Given the description of an element on the screen output the (x, y) to click on. 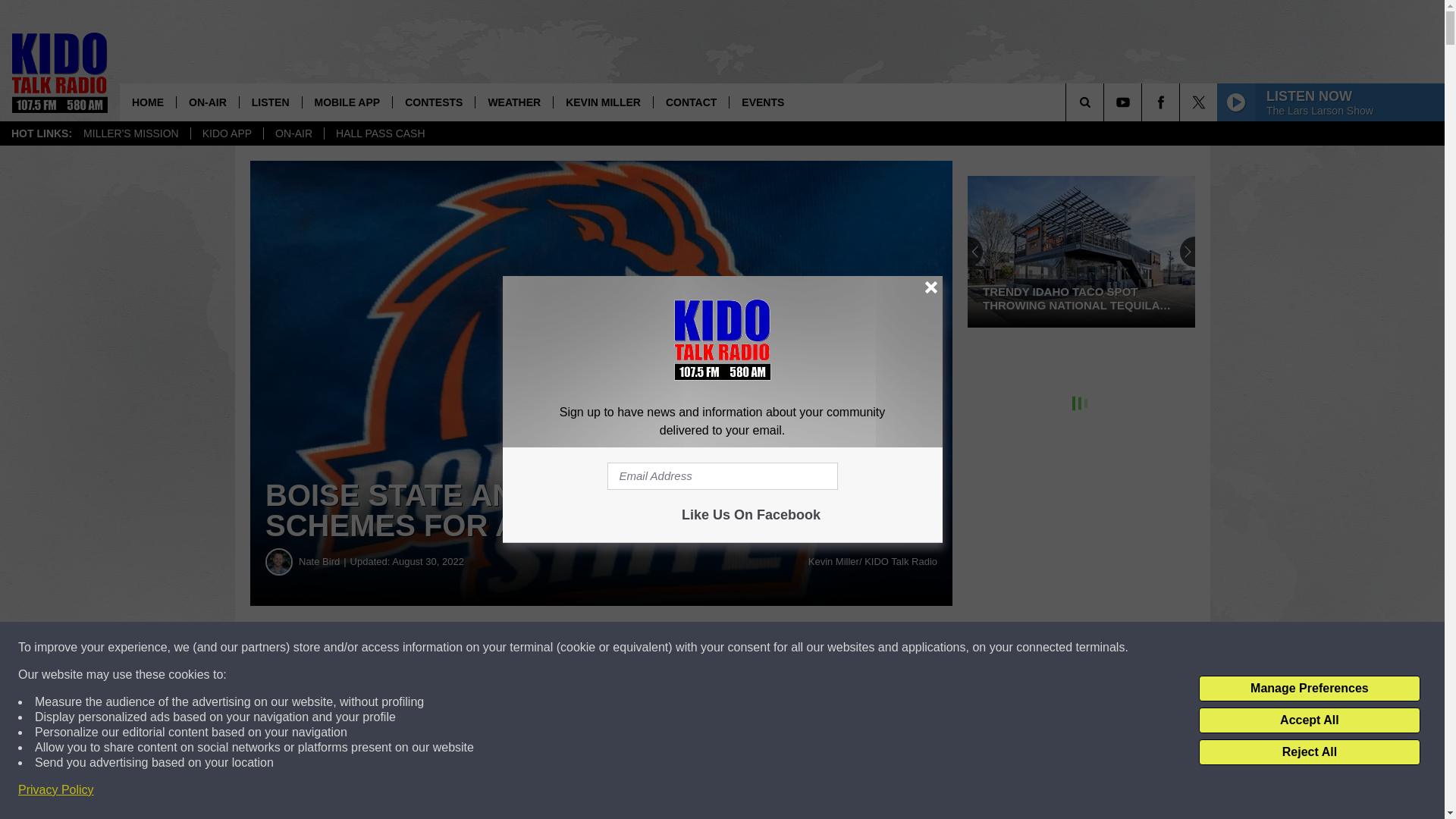
SEARCH (1106, 102)
KIDO APP (226, 133)
Manage Preferences (1309, 688)
LISTEN (269, 102)
Share on Twitter (741, 647)
ON-AIR (207, 102)
HOME (147, 102)
MOBILE APP (347, 102)
ON-AIR (293, 133)
Share on Facebook (460, 647)
SEARCH (1106, 102)
Reject All (1309, 751)
Accept All (1309, 720)
WEATHER (513, 102)
Email Address (722, 475)
